Given the description of an element on the screen output the (x, y) to click on. 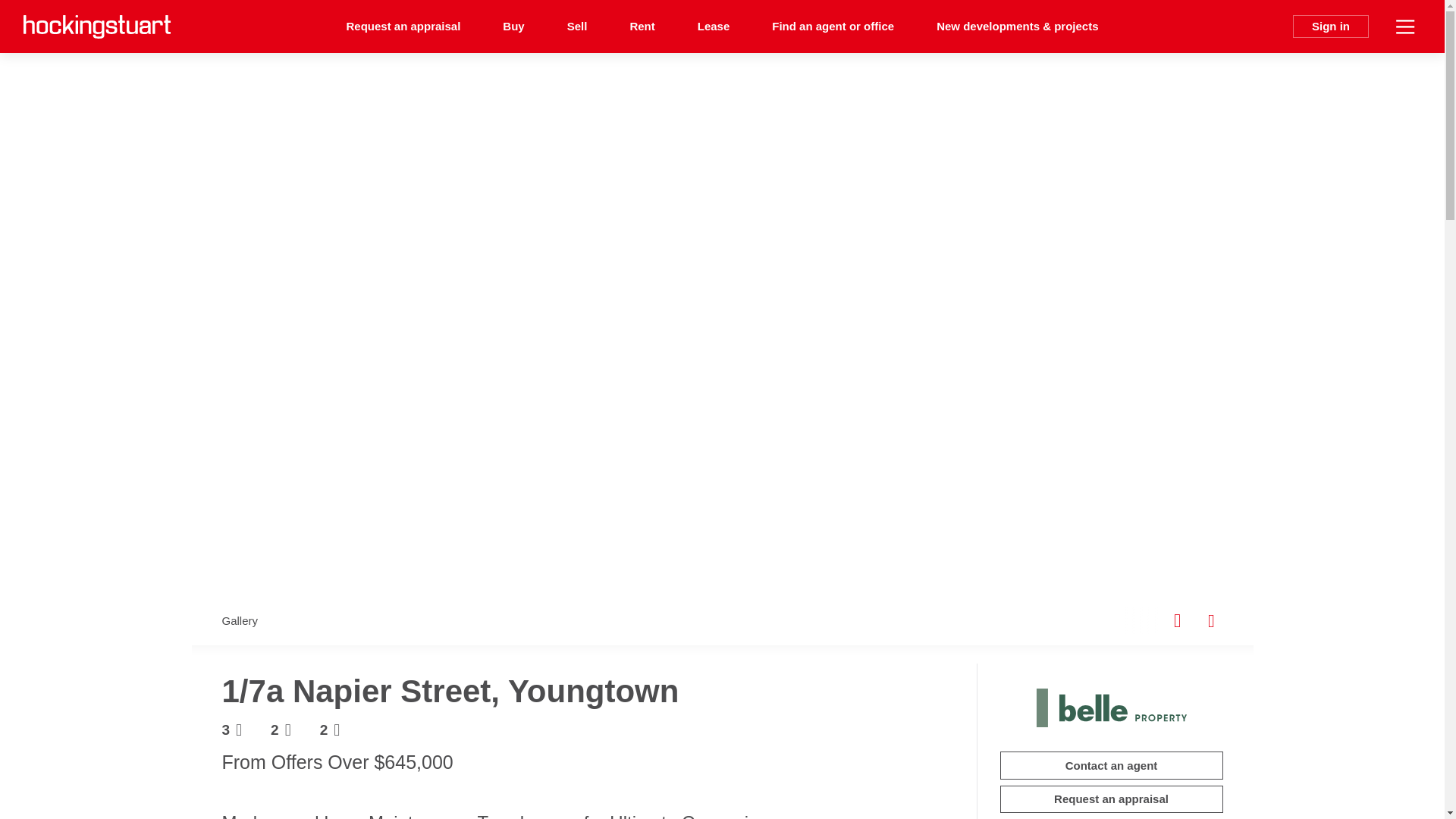
Find an agent or office (832, 26)
Rent (641, 26)
Buy (513, 26)
Sell (577, 26)
Request an appraisal (402, 26)
Lease (714, 26)
